Given the description of an element on the screen output the (x, y) to click on. 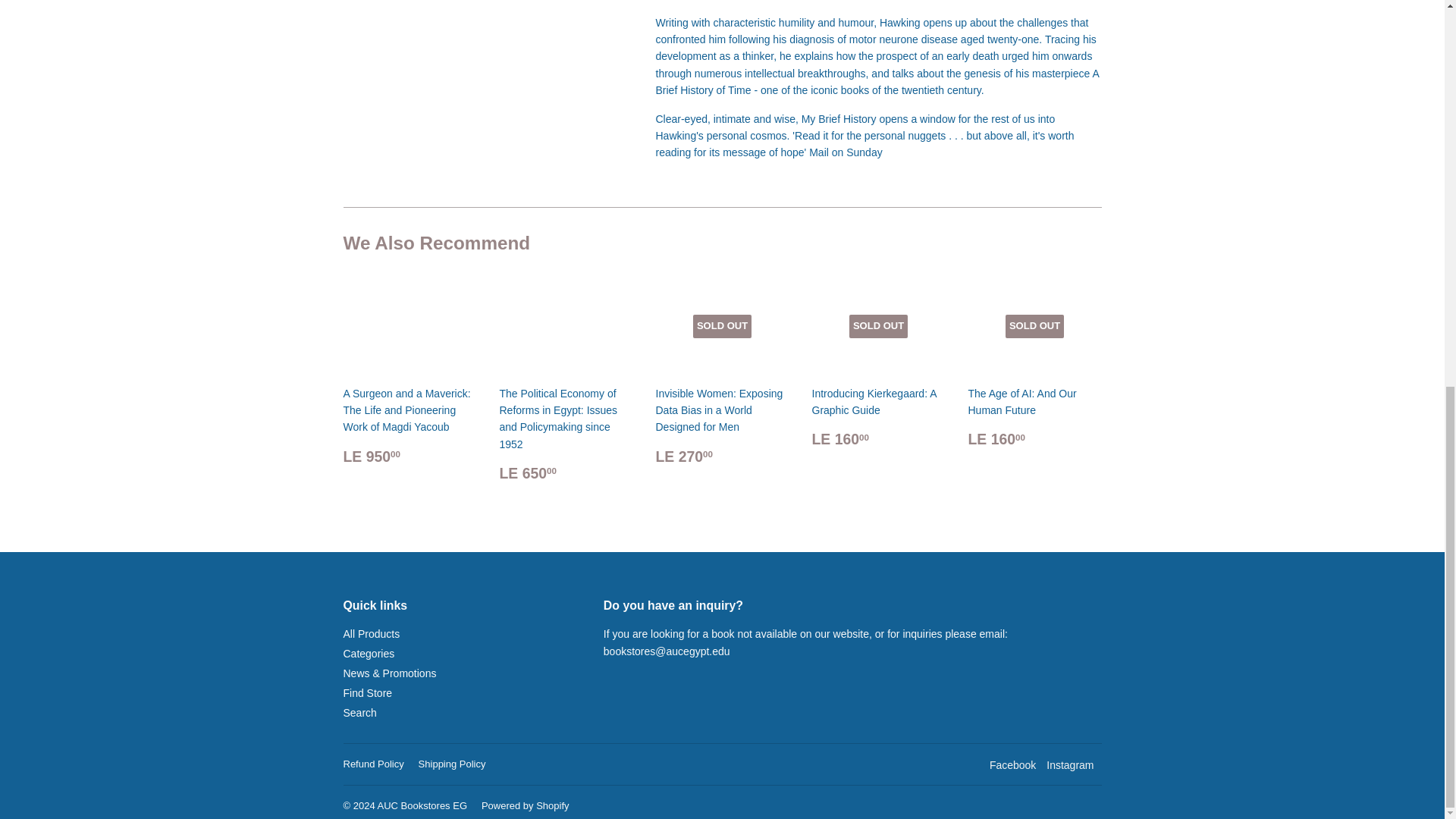
Categories (368, 653)
Facebook (1012, 764)
Search (358, 712)
Find Store (366, 693)
AUC Bookstores EG on Instagram (1069, 764)
Refund Policy (372, 763)
Shipping Policy (452, 763)
AUC Bookstores EG on Facebook (1012, 764)
All Products (370, 633)
